Given the description of an element on the screen output the (x, y) to click on. 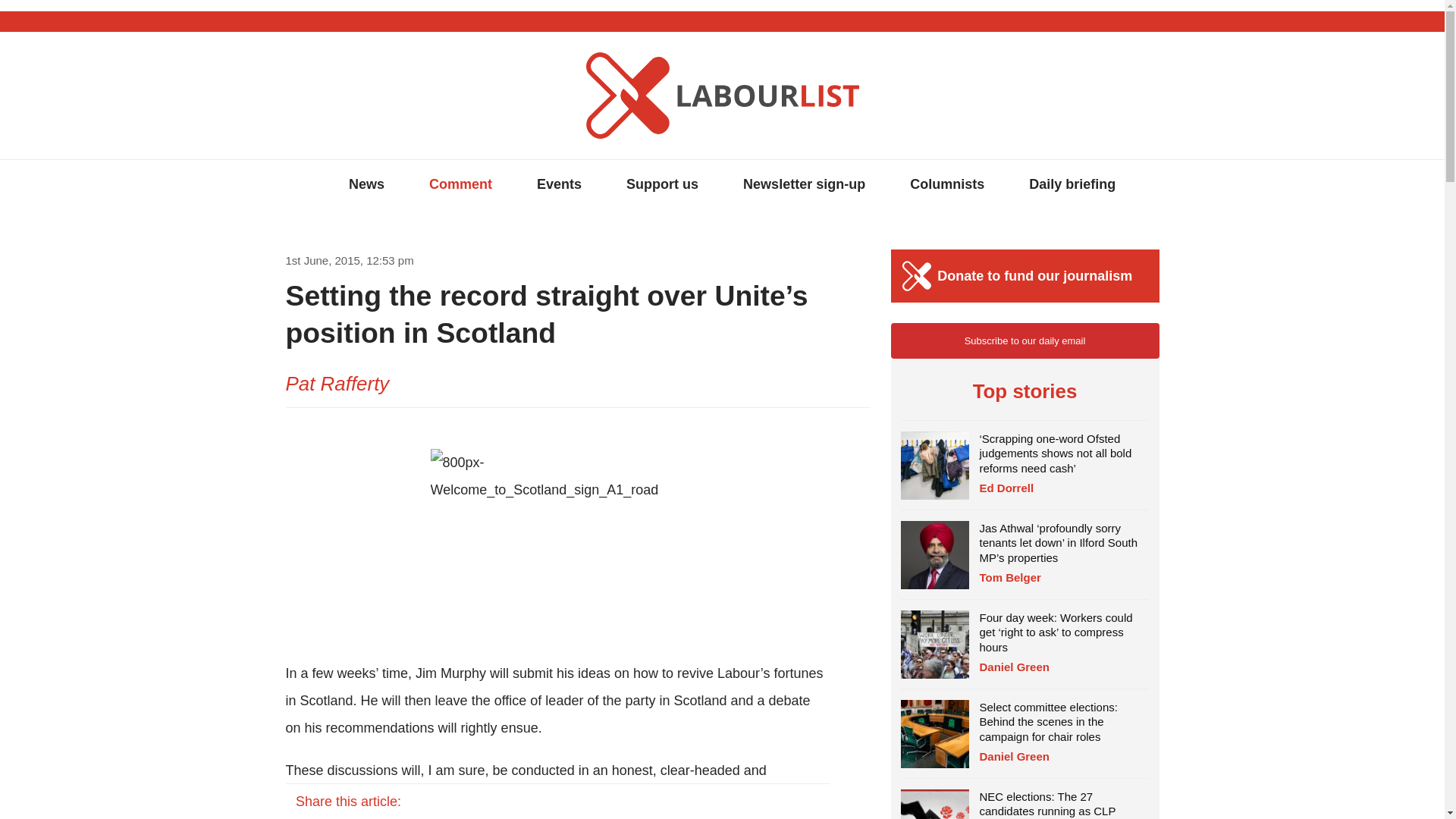
Newsletter sign-up (803, 184)
News (366, 184)
Columnists (947, 184)
Daily briefing (1072, 184)
Events (558, 184)
Comment (460, 184)
Support us (662, 184)
